Given the description of an element on the screen output the (x, y) to click on. 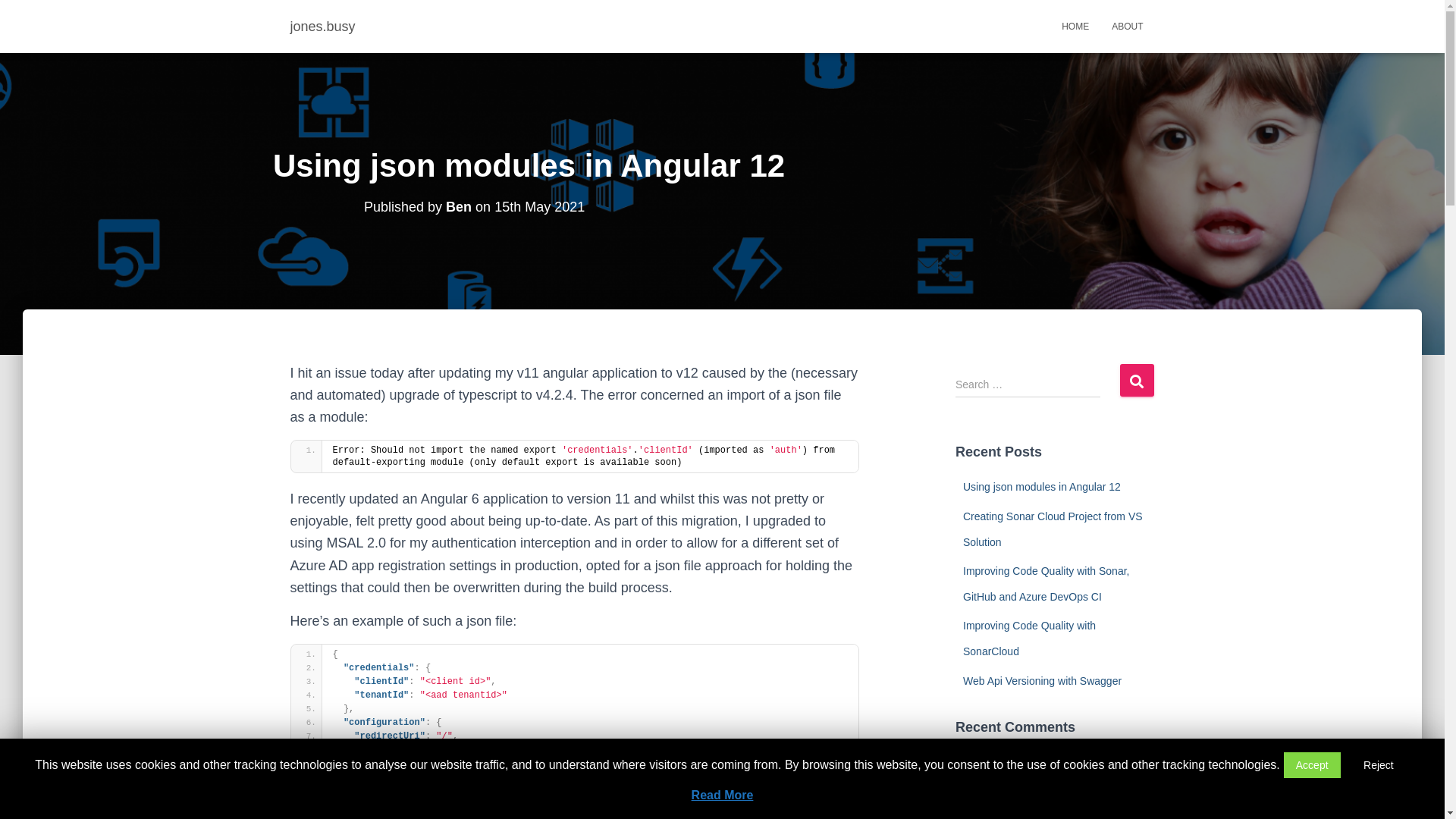
ABOUT Element type: text (1127, 26)
Improving Code Quality with SonarCloud Element type: text (1029, 638)
Ben Element type: text (458, 206)
Using json modules in Angular 12 Element type: text (1041, 486)
Reject Element type: text (1378, 765)
jones.busy Element type: text (323, 26)
Read More Element type: text (722, 795)
Accept Element type: text (1311, 765)
Web Api Versioning with Swagger Element type: text (1042, 680)
Creating Sonar Cloud Project from VS Solution Element type: text (1052, 529)
Search Element type: text (1136, 380)
HOME Element type: text (1075, 26)
Gary Mason Element type: text (991, 762)
Web Api Versioning with Swagger Element type: text (1057, 774)
